Given the description of an element on the screen output the (x, y) to click on. 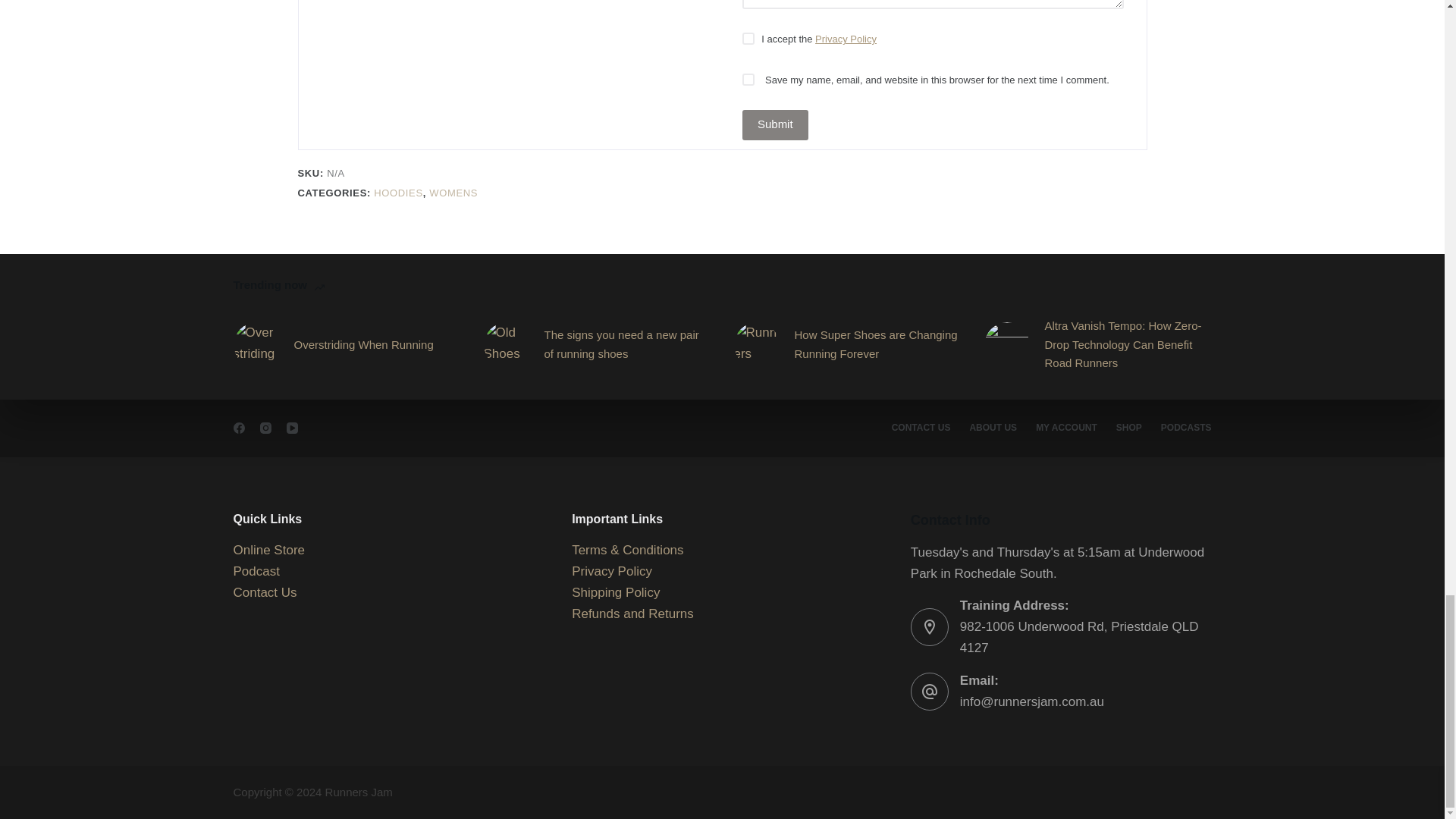
Runners Jam Shoes (755, 344)
Overstriding (255, 344)
yes (748, 79)
Old Shoes (506, 344)
on (748, 38)
Altra Vanish Tempo in the shoebox (1006, 344)
